Given the description of an element on the screen output the (x, y) to click on. 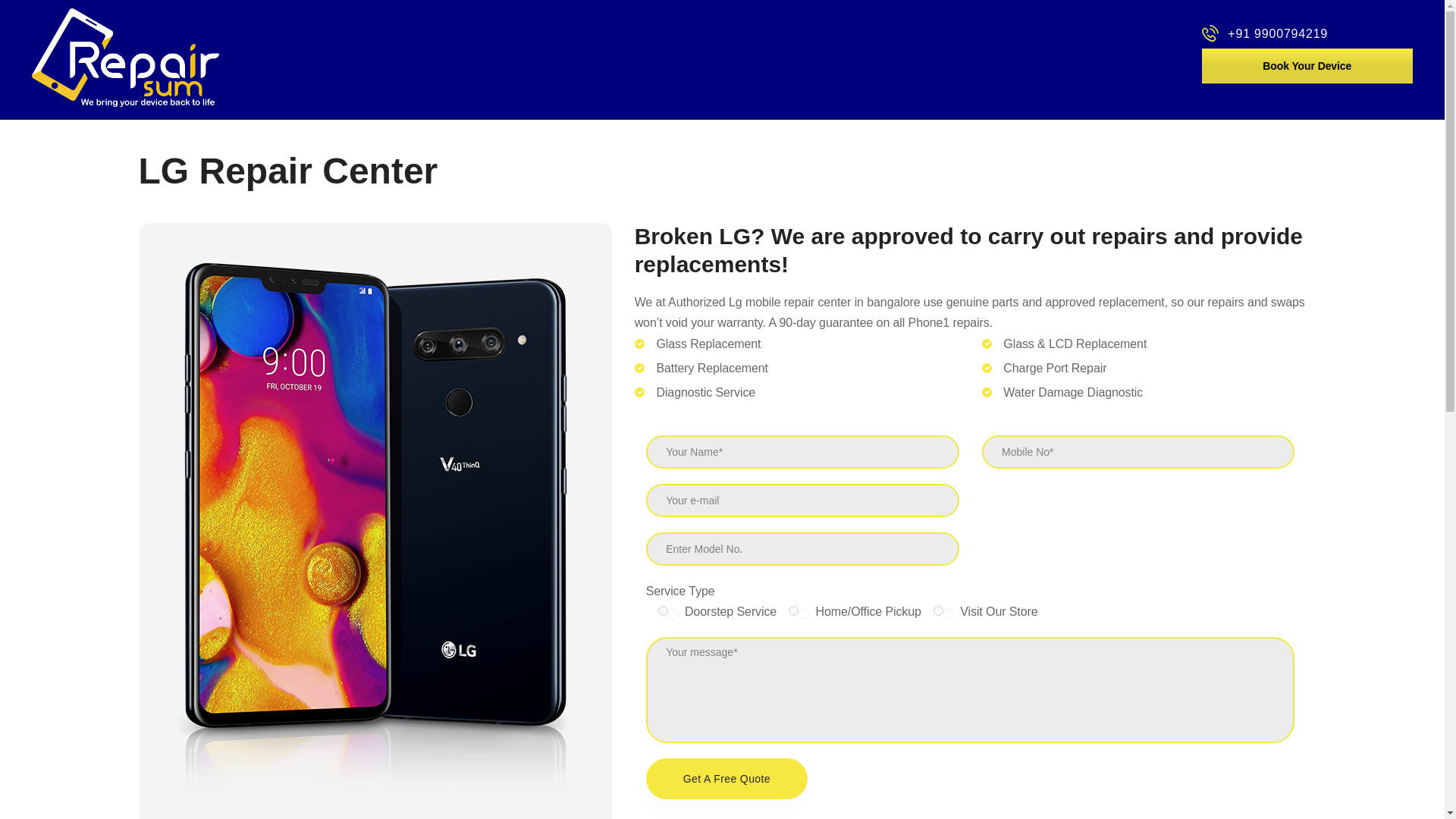
Doorstep Service (663, 610)
Visit Our Store (938, 610)
Get A Free Quote (727, 778)
